Given the description of an element on the screen output the (x, y) to click on. 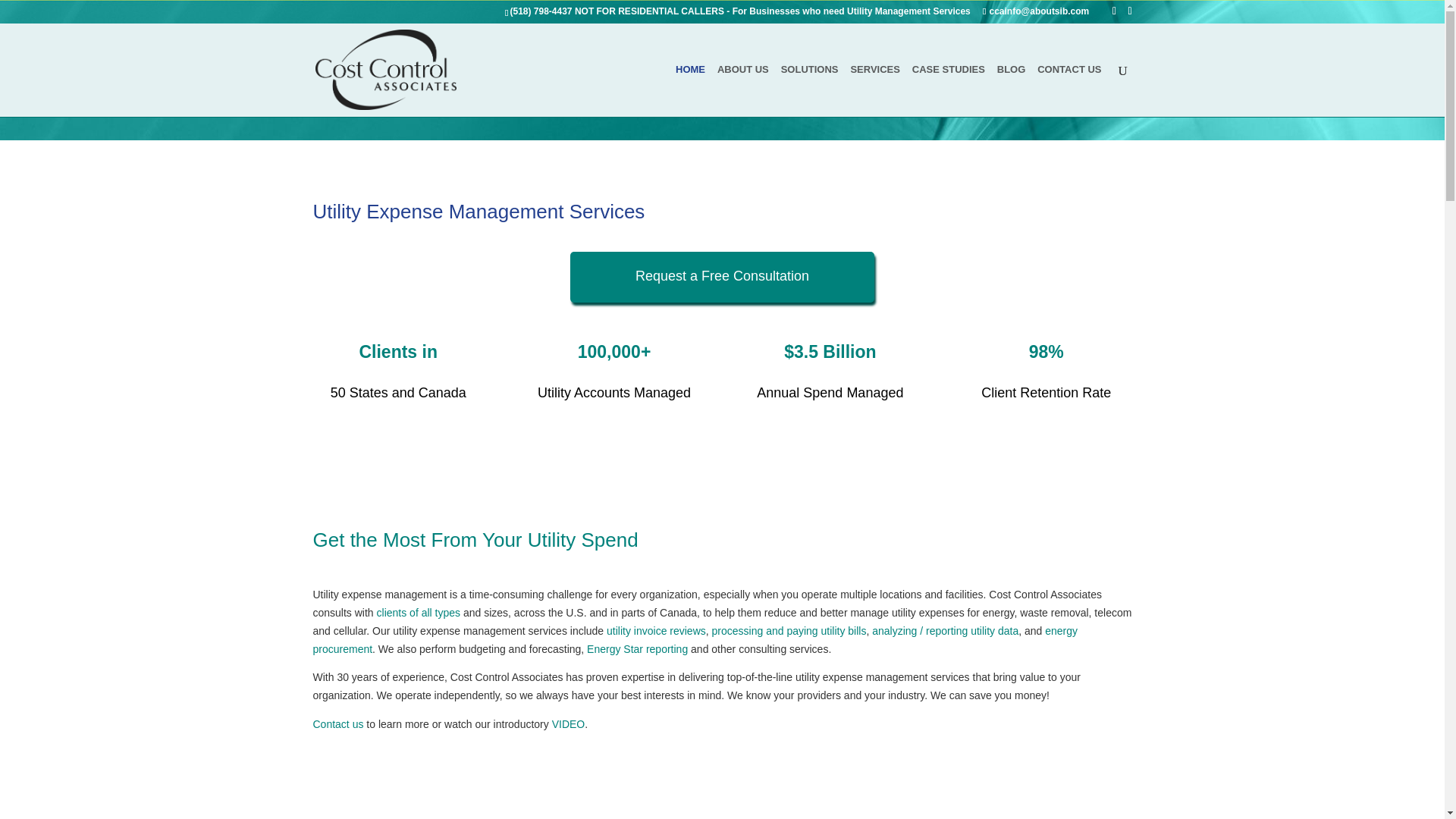
processing and paying utility bills (788, 630)
About Cost Control Associates (742, 90)
Request a Free Consultation (722, 276)
Contact us (337, 724)
clients of all types (419, 612)
utility invoice reviews (656, 630)
CASE STUDIES (948, 90)
ABOUT US (742, 90)
SERVICES (874, 90)
Utility Bill Payment and Data Management Services (874, 90)
